Given the description of an element on the screen output the (x, y) to click on. 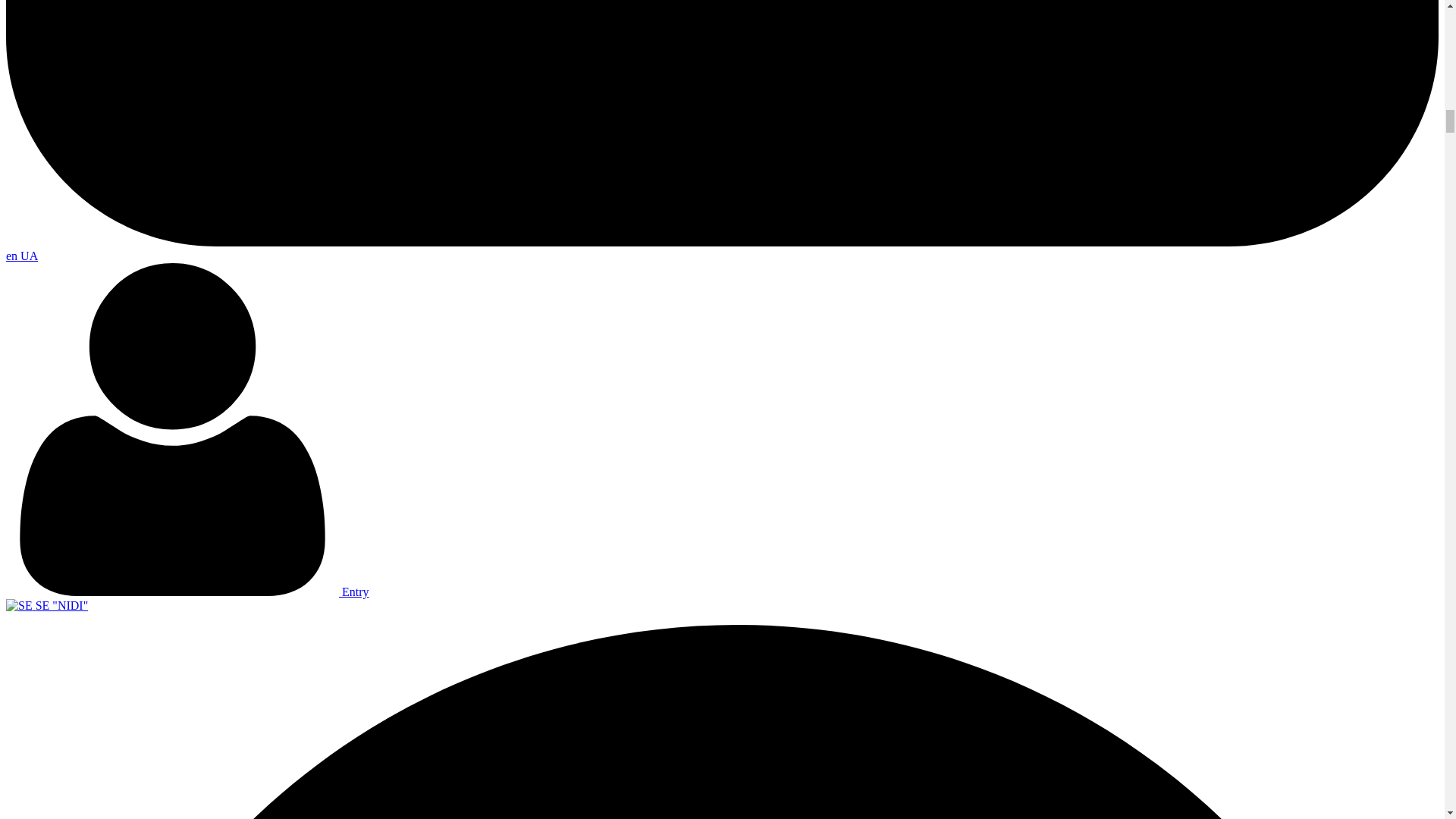
Entry (187, 591)
SE "NIDI" (46, 604)
en (12, 255)
UA (28, 255)
